Given the description of an element on the screen output the (x, y) to click on. 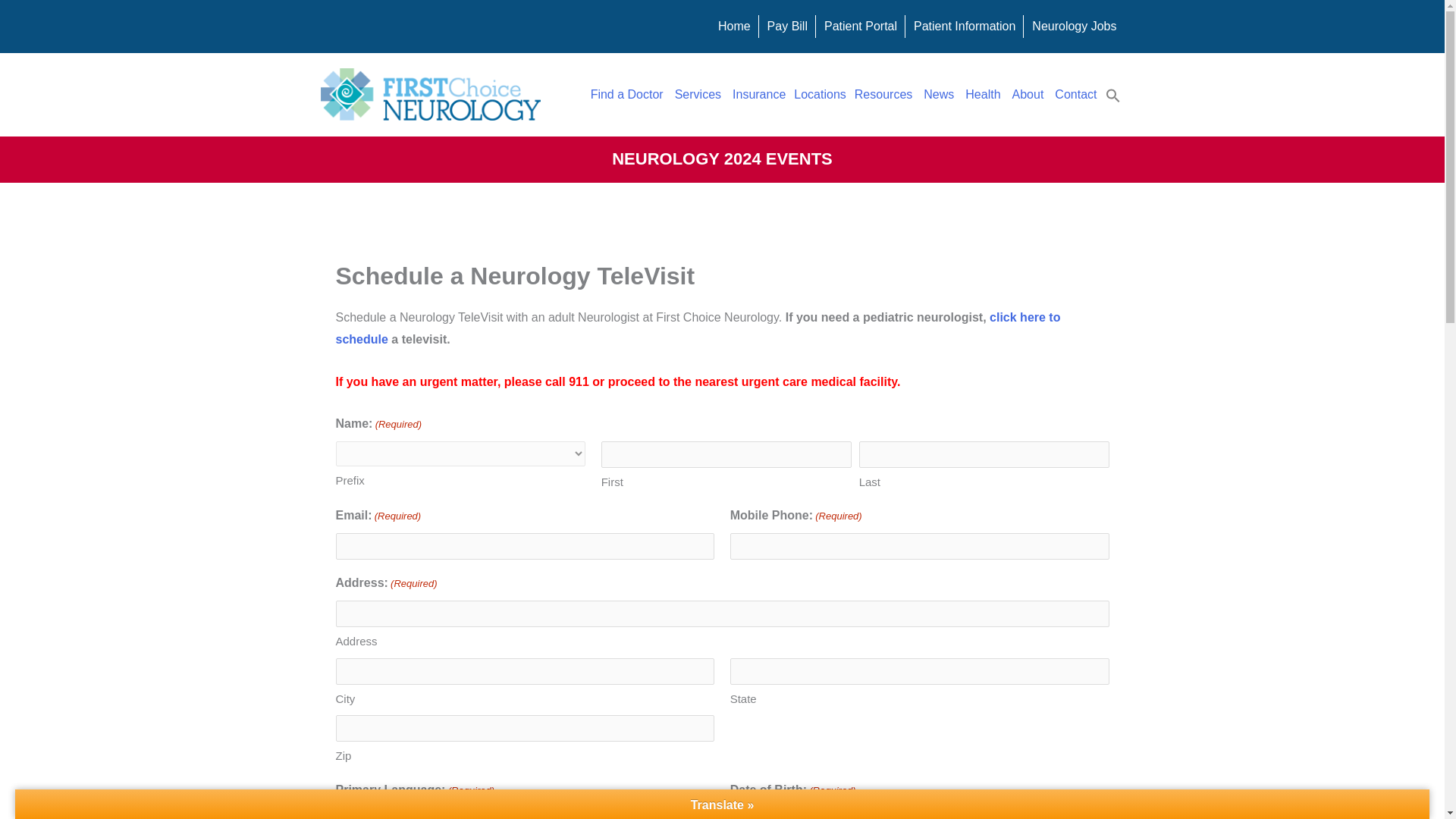
Resources (884, 94)
Florida Neurologists (627, 94)
Neurology Jobs (1074, 26)
Pay Bill (787, 26)
Secure Portal for Patients (860, 26)
First Choice Neurology (734, 26)
First Choice Neurology (430, 94)
Patient Portal (860, 26)
Information for Patients (964, 26)
Services (699, 94)
